Given the description of an element on the screen output the (x, y) to click on. 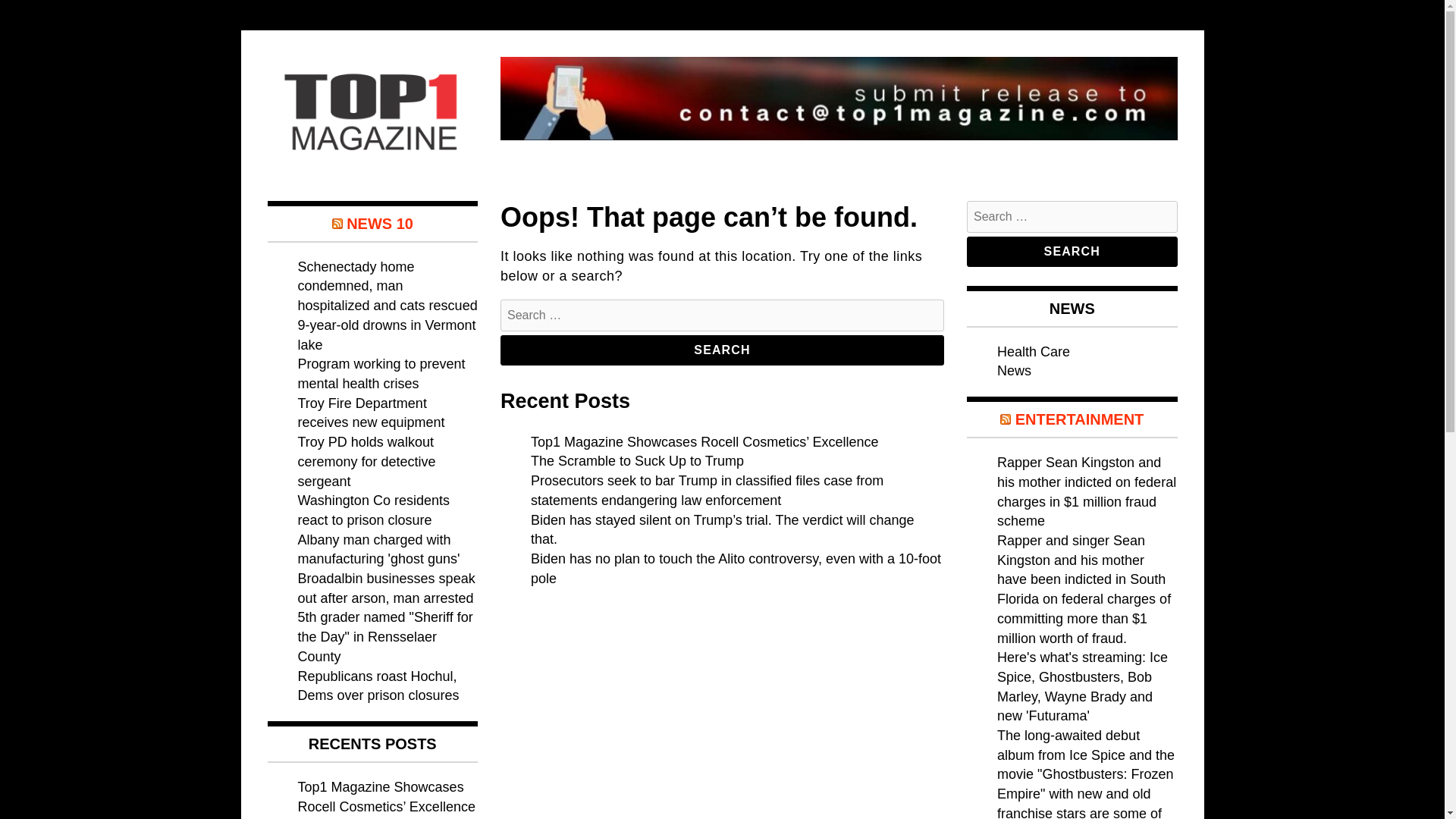
The Scramble to Suck Up to Trump (637, 460)
Search (1071, 251)
5th grader named "Sheriff for the Day" in Rensselaer County (384, 636)
Troy PD holds walkout ceremony for detective sergeant (366, 461)
Republicans roast Hochul, Dems over prison closures (377, 686)
Washington Co residents react to prison closure (372, 510)
Top 1 Magazine (369, 195)
Broadalbin businesses speak out after arson, man arrested (385, 588)
Troy Fire Department receives new equipment (370, 412)
Search (1071, 251)
NEWS 10 (379, 223)
Search (721, 349)
